Given the description of an element on the screen output the (x, y) to click on. 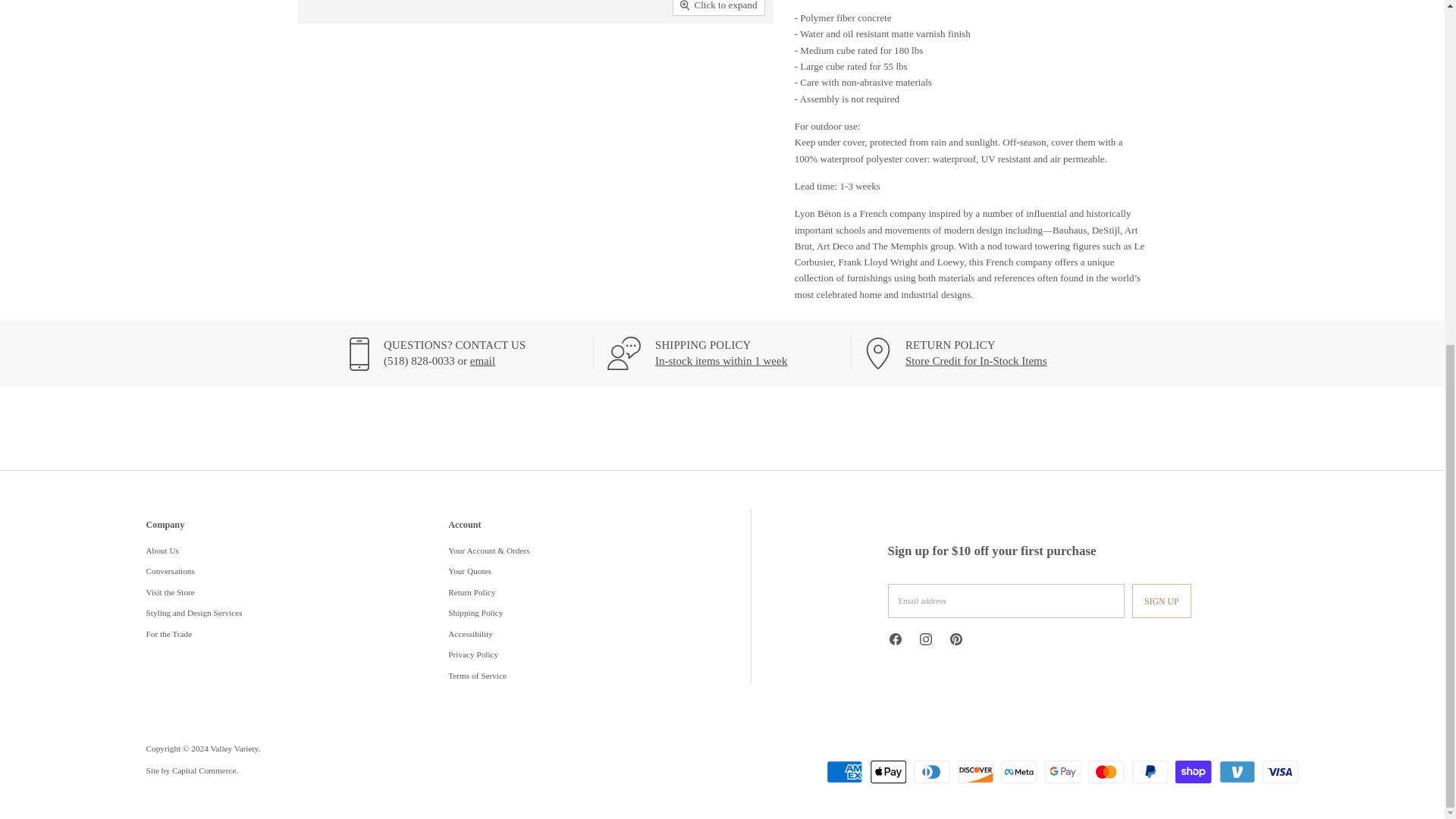
Pinterest (958, 642)
Refund Policy (975, 360)
Facebook (897, 642)
Instagram (928, 642)
Chat icon (623, 353)
Visit the Store (482, 360)
Shipping Policy (721, 360)
